Given the description of an element on the screen output the (x, y) to click on. 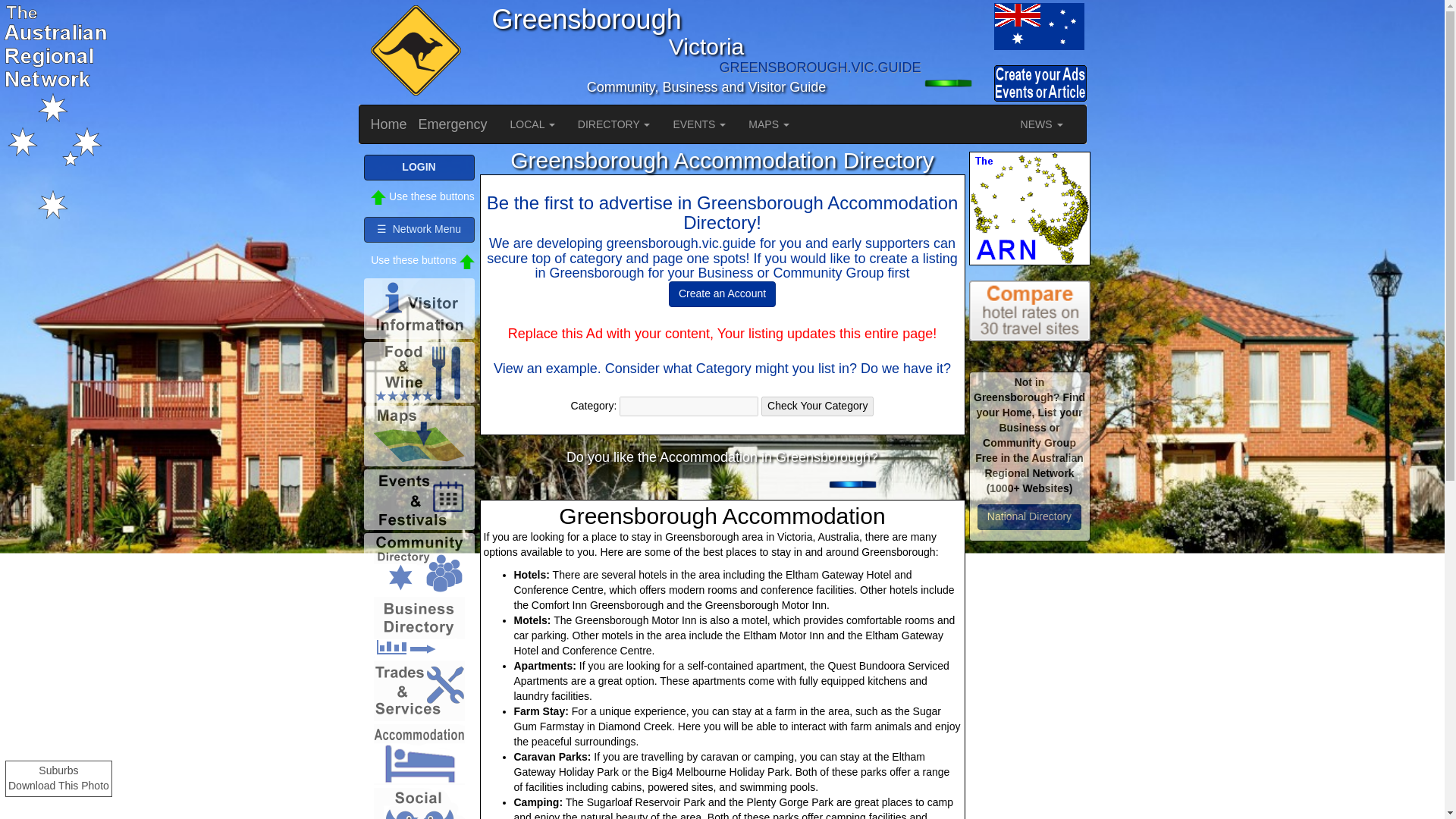
ARN Websites (1029, 208)
Check Your Category (817, 406)
Greensborough Hotel Search Engine (1029, 310)
DIRECTORY (614, 124)
Emergency (453, 124)
Greensborough Australia (1037, 26)
Login to greensborough.vic.guide (956, 83)
Home (389, 124)
Please like our Page (861, 484)
